Given the description of an element on the screen output the (x, y) to click on. 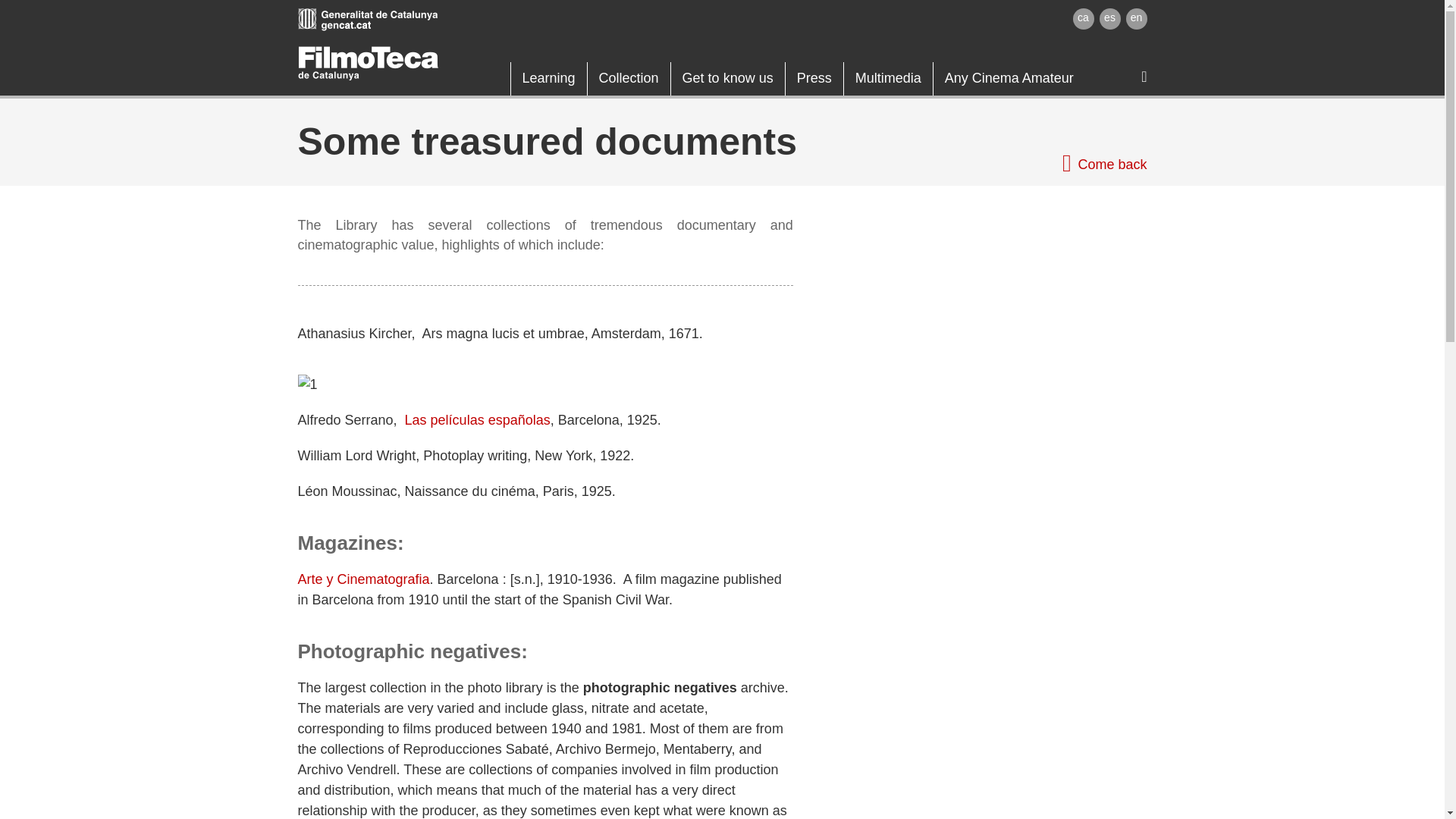
Learning (548, 78)
en (1136, 18)
Collection (628, 78)
es (1110, 18)
ca (1082, 18)
